Given the description of an element on the screen output the (x, y) to click on. 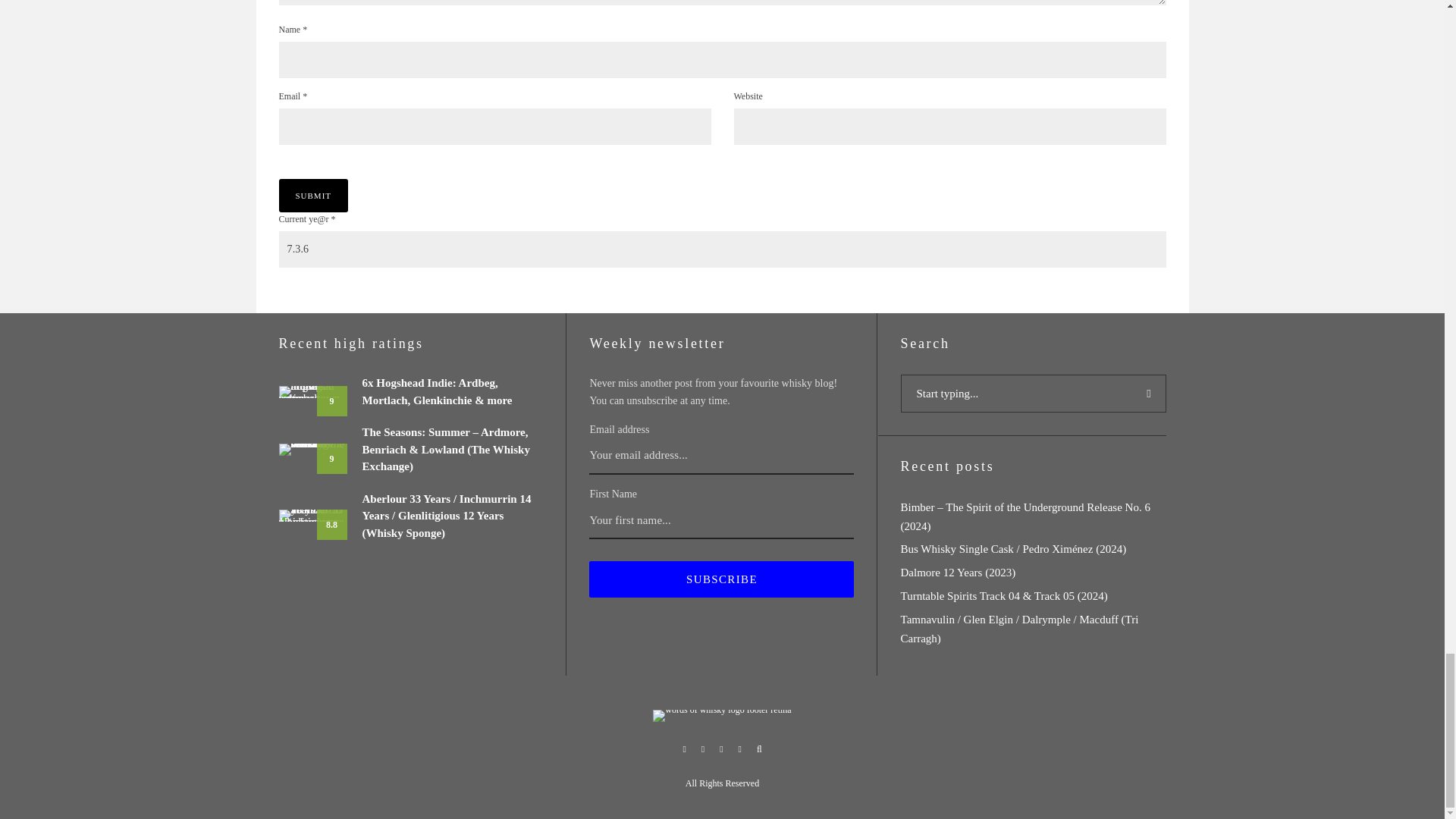
Submit (314, 195)
7.3.6 (722, 248)
Subscribe (721, 579)
